Given the description of an element on the screen output the (x, y) to click on. 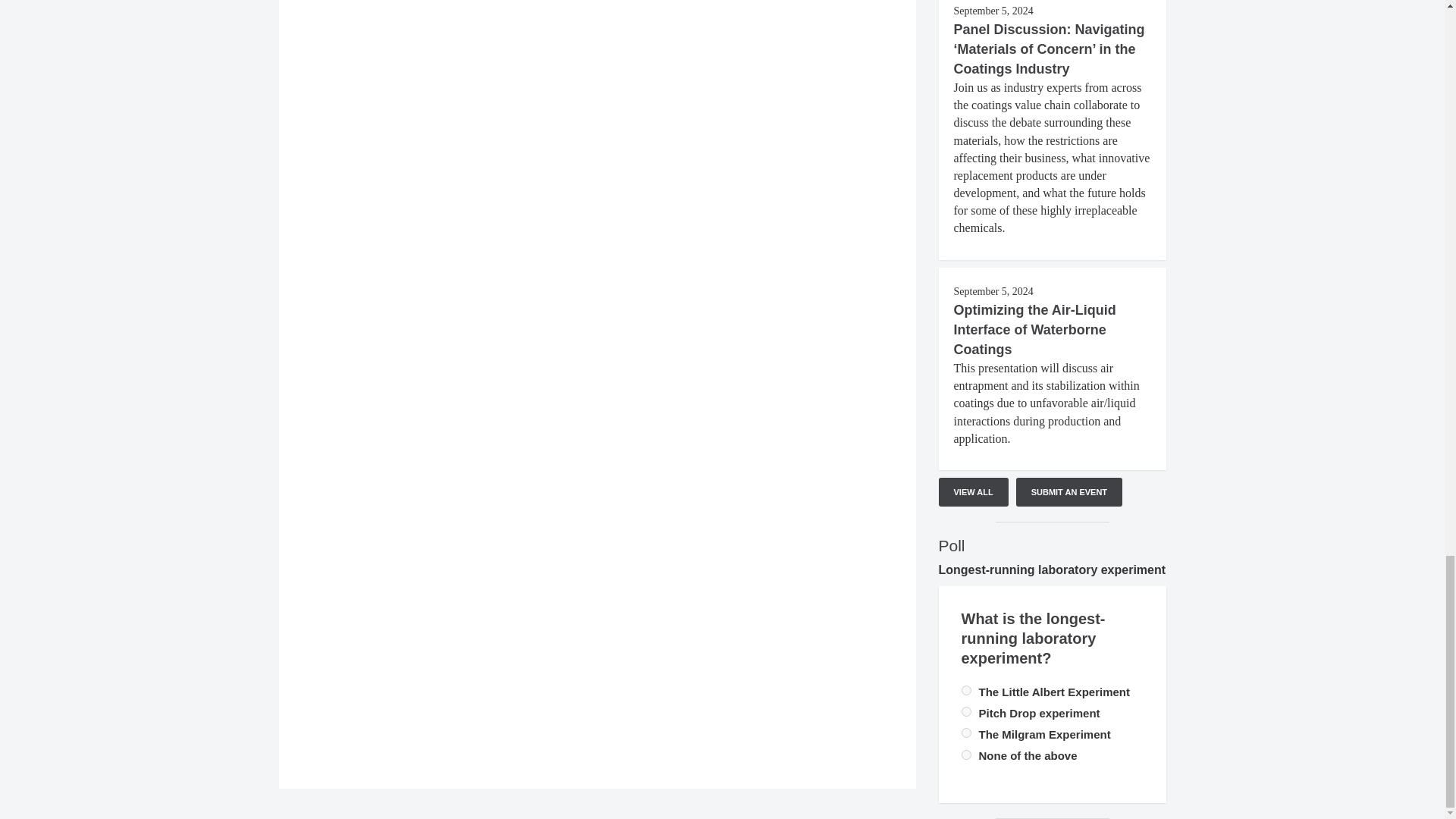
232 (965, 732)
230 (965, 711)
233 (965, 690)
Optimizing the Air-Liquid Interface of Waterborne Coatings (1034, 329)
231 (965, 755)
